Given the description of an element on the screen output the (x, y) to click on. 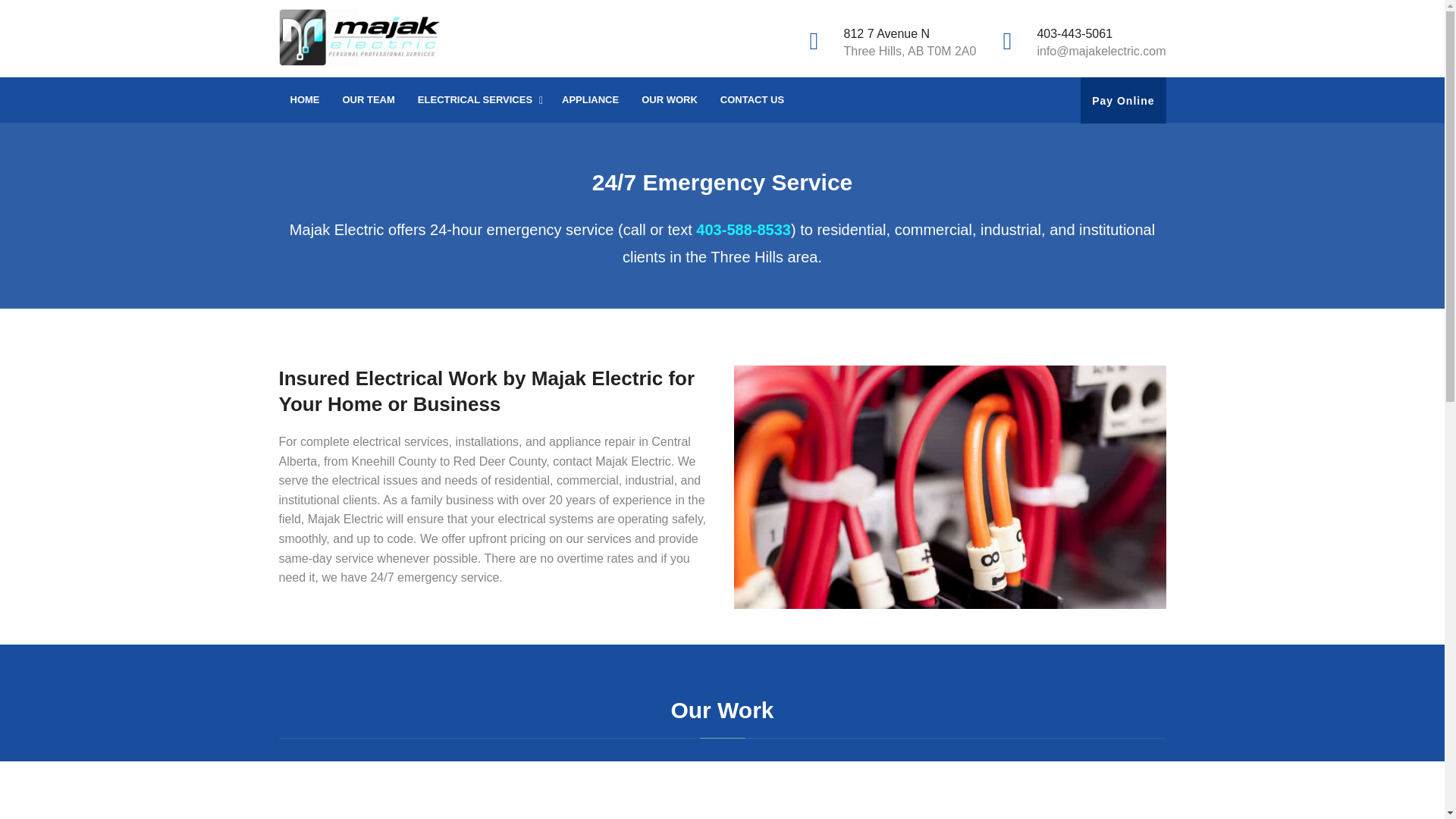
Pay Online (1123, 101)
OUR TEAM (368, 99)
ELECTRICAL SERVICES (478, 99)
HOME (305, 99)
CONTACT US (751, 99)
OUR WORK (669, 99)
APPLIANCE (590, 99)
403-443-5061 (1074, 33)
